Given the description of an element on the screen output the (x, y) to click on. 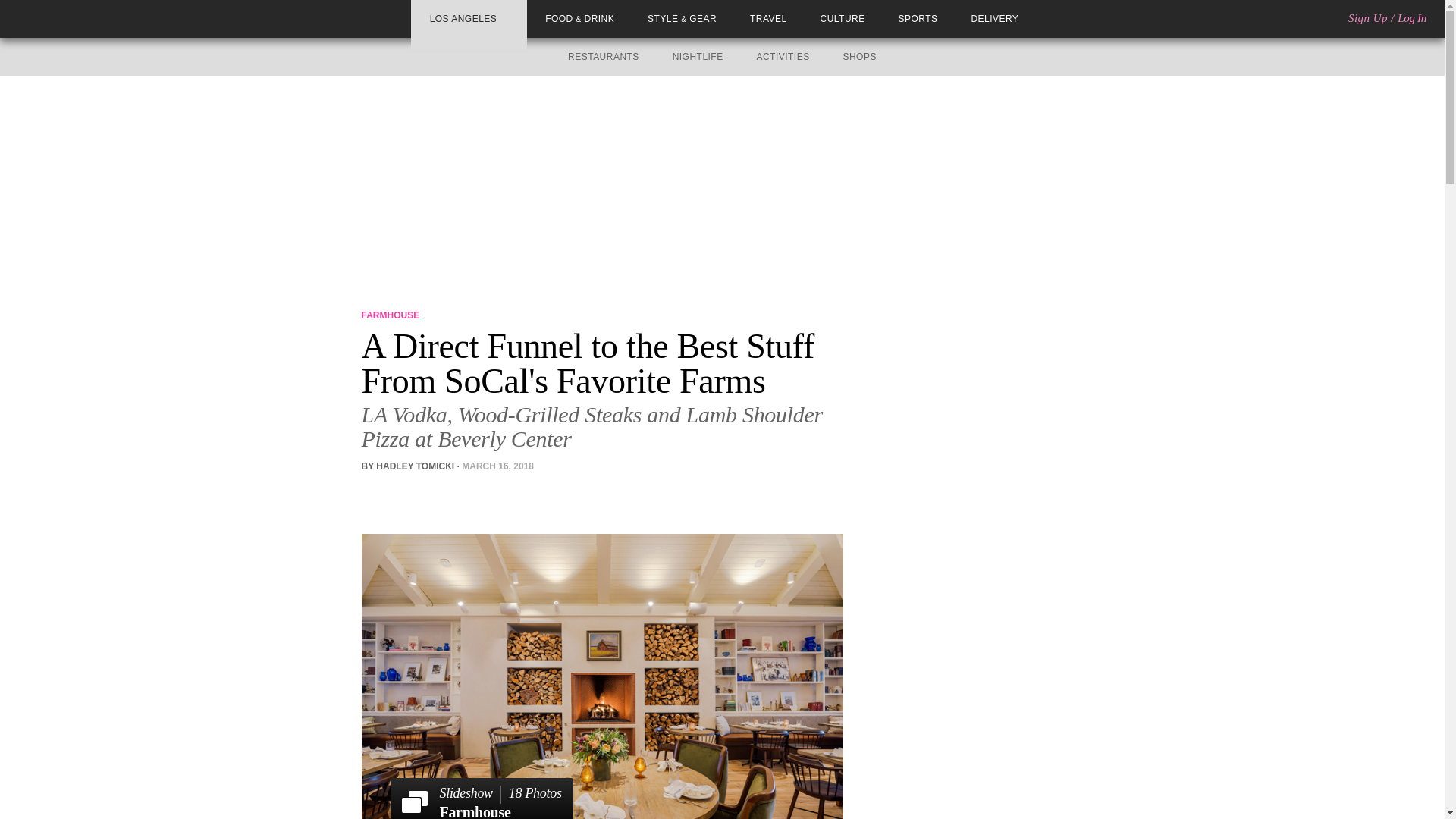
Pinterest (414, 493)
SPORTS (917, 18)
TRAVEL (768, 18)
ACTIVITIES (782, 56)
Sign Up (1367, 18)
UrbanDaddy (67, 18)
3rd party ad content (481, 798)
Log In (859, 56)
